Given the description of an element on the screen output the (x, y) to click on. 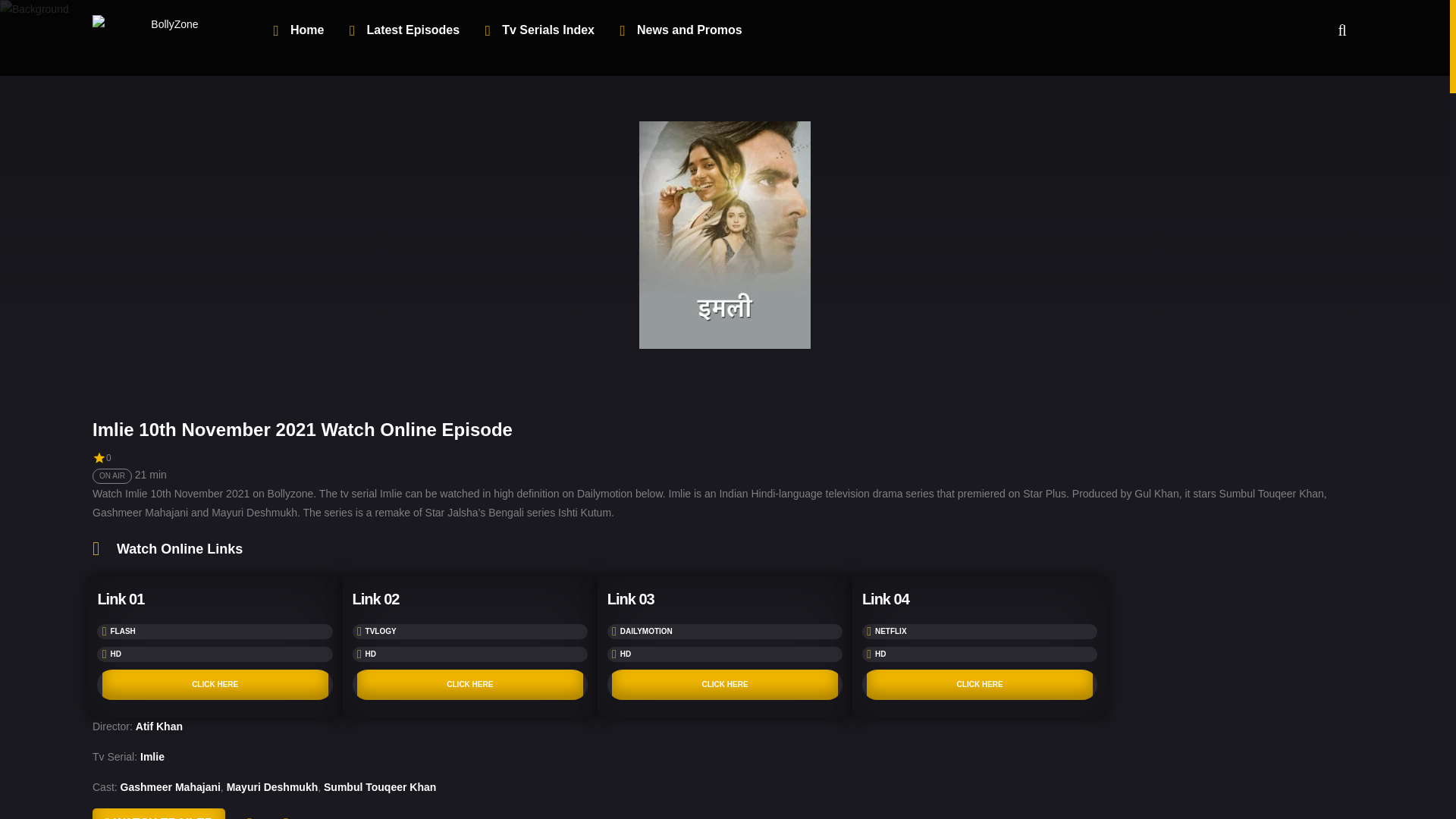
CLICK HERE (215, 684)
0 (330, 813)
Gashmeer Mahajani (170, 787)
Tv Serials Index (538, 30)
CLICK HERE (724, 684)
Home (298, 30)
CLICK HERE (469, 684)
Imlie (151, 756)
Sumbul Touqeer Khan (379, 787)
0 (373, 813)
WATCH TRAILER (159, 813)
CLICK HERE (979, 684)
Mayuri Deshmukh (272, 787)
Latest Episodes (403, 30)
News and Promos (680, 30)
